Given the description of an element on the screen output the (x, y) to click on. 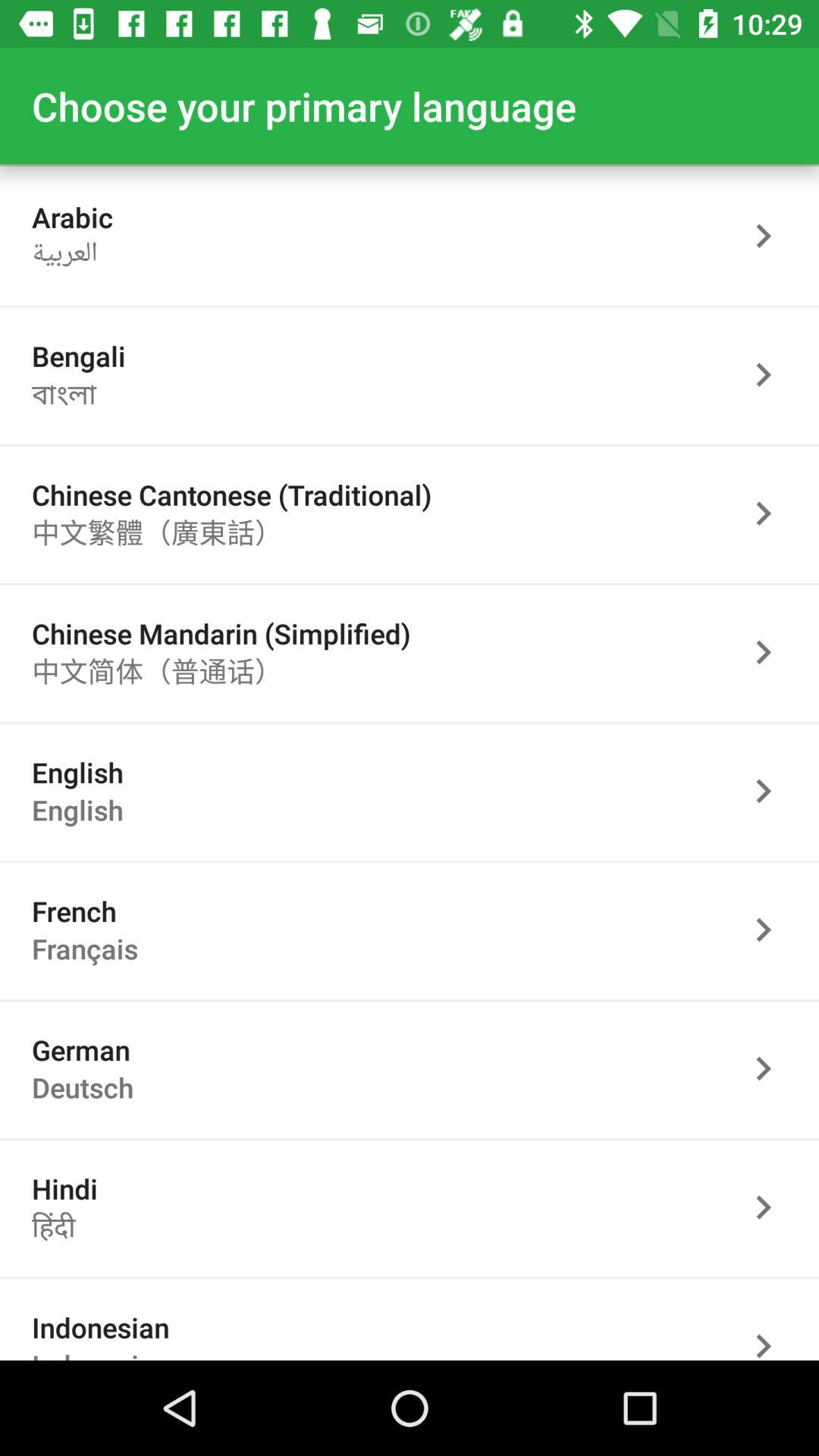
pick language option (771, 790)
